Given the description of an element on the screen output the (x, y) to click on. 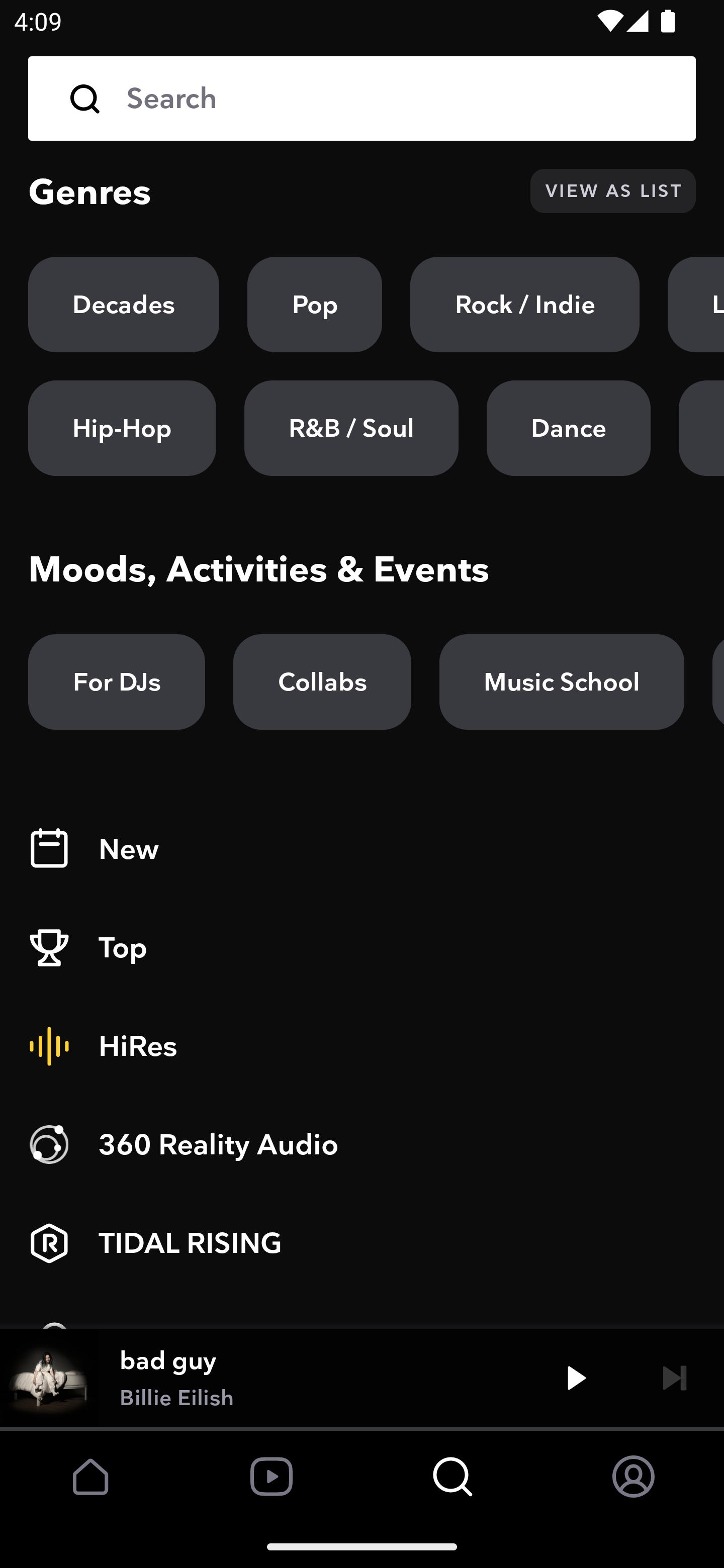
Search (361, 98)
Search (397, 98)
VIEW AS LIST (612, 191)
Decades (123, 304)
Pop (314, 304)
Rock / Indie (524, 304)
Hip-Hop (122, 428)
R&B / Soul (351, 428)
Dance (568, 428)
For DJs (116, 681)
Collabs (322, 681)
Music School (561, 681)
New (362, 848)
Top (362, 947)
HiRes (362, 1046)
360 Reality Audio (362, 1145)
TIDAL RISING (362, 1243)
bad guy Billie Eilish Play (362, 1377)
Play (576, 1377)
